Given the description of an element on the screen output the (x, y) to click on. 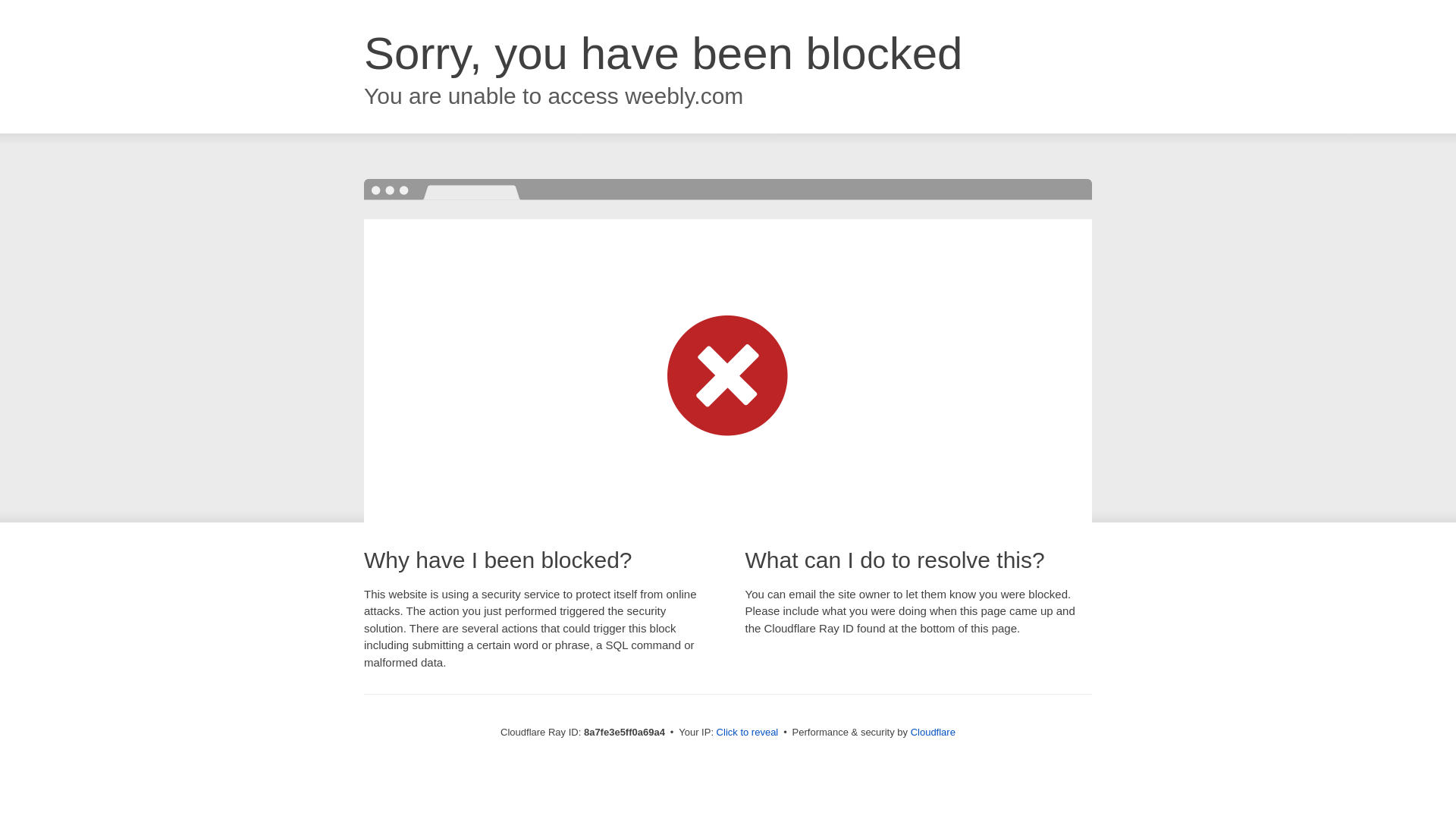
Cloudflare (933, 731)
Click to reveal (747, 732)
